Given the description of an element on the screen output the (x, y) to click on. 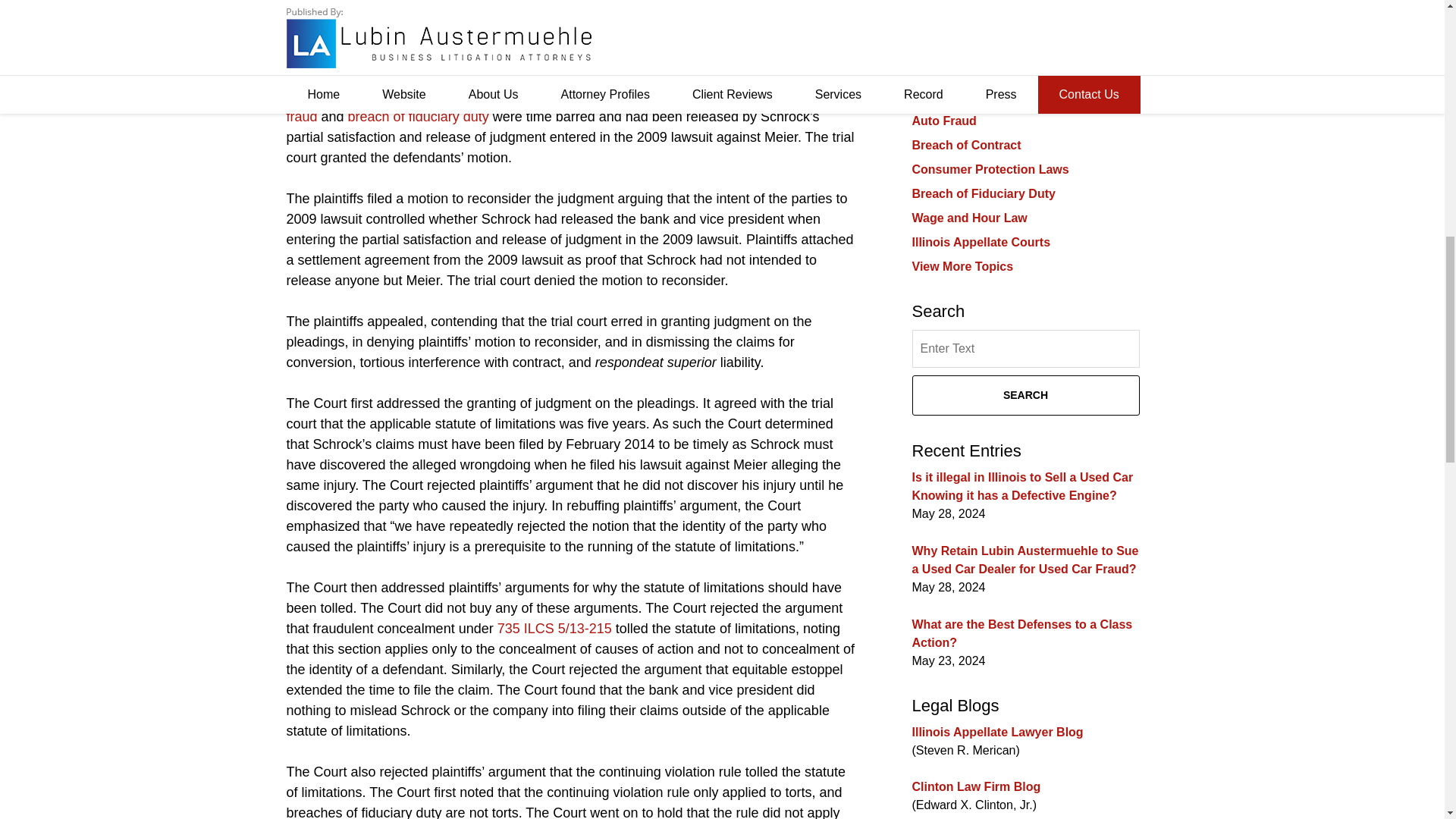
fraud (301, 116)
breach of fiduciary duty (418, 116)
